Given the description of an element on the screen output the (x, y) to click on. 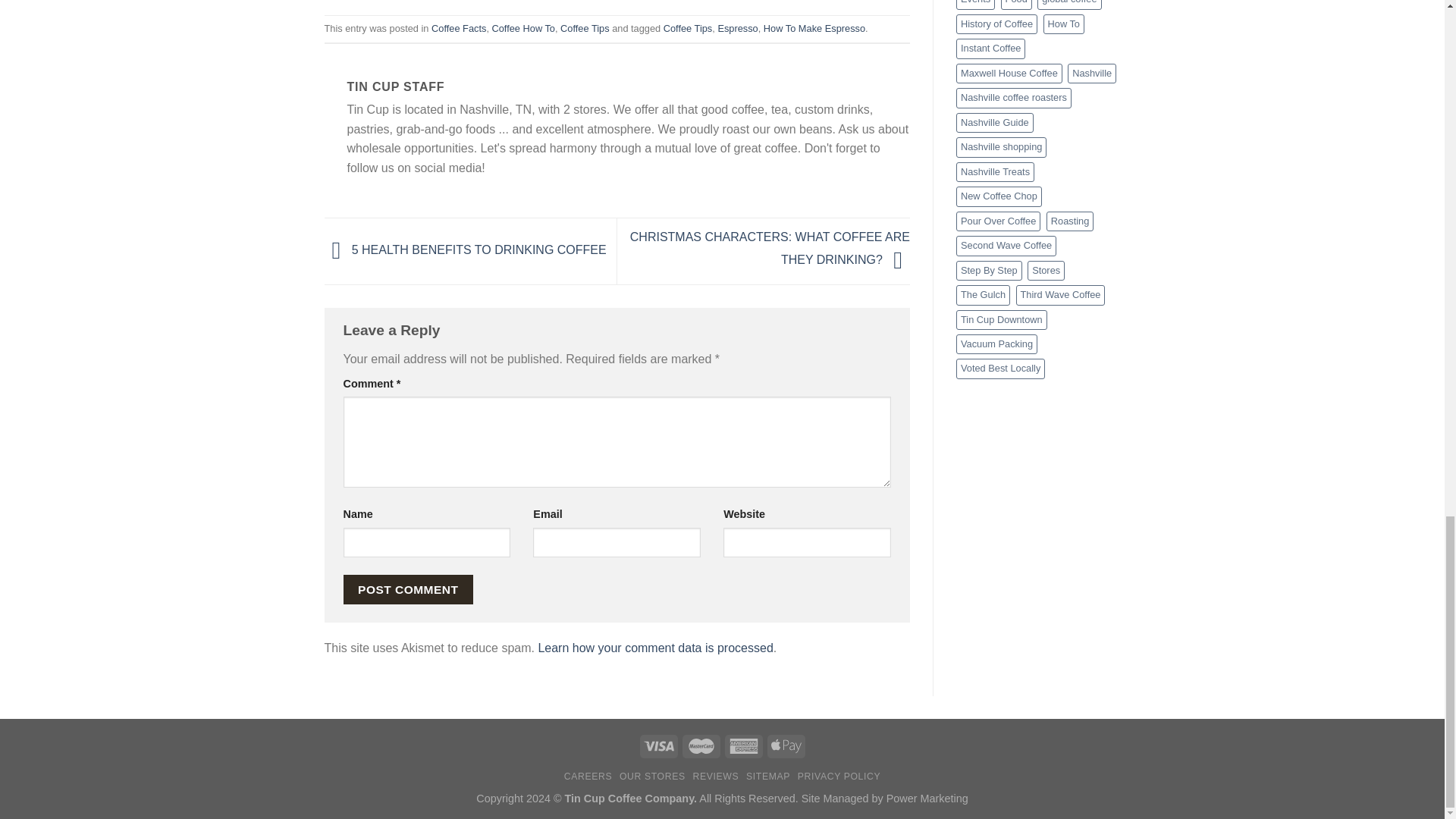
Post Comment (407, 589)
Coffee Tips (585, 28)
Coffee How To (523, 28)
Coffee Facts (458, 28)
Coffee Tips (688, 28)
